Given the description of an element on the screen output the (x, y) to click on. 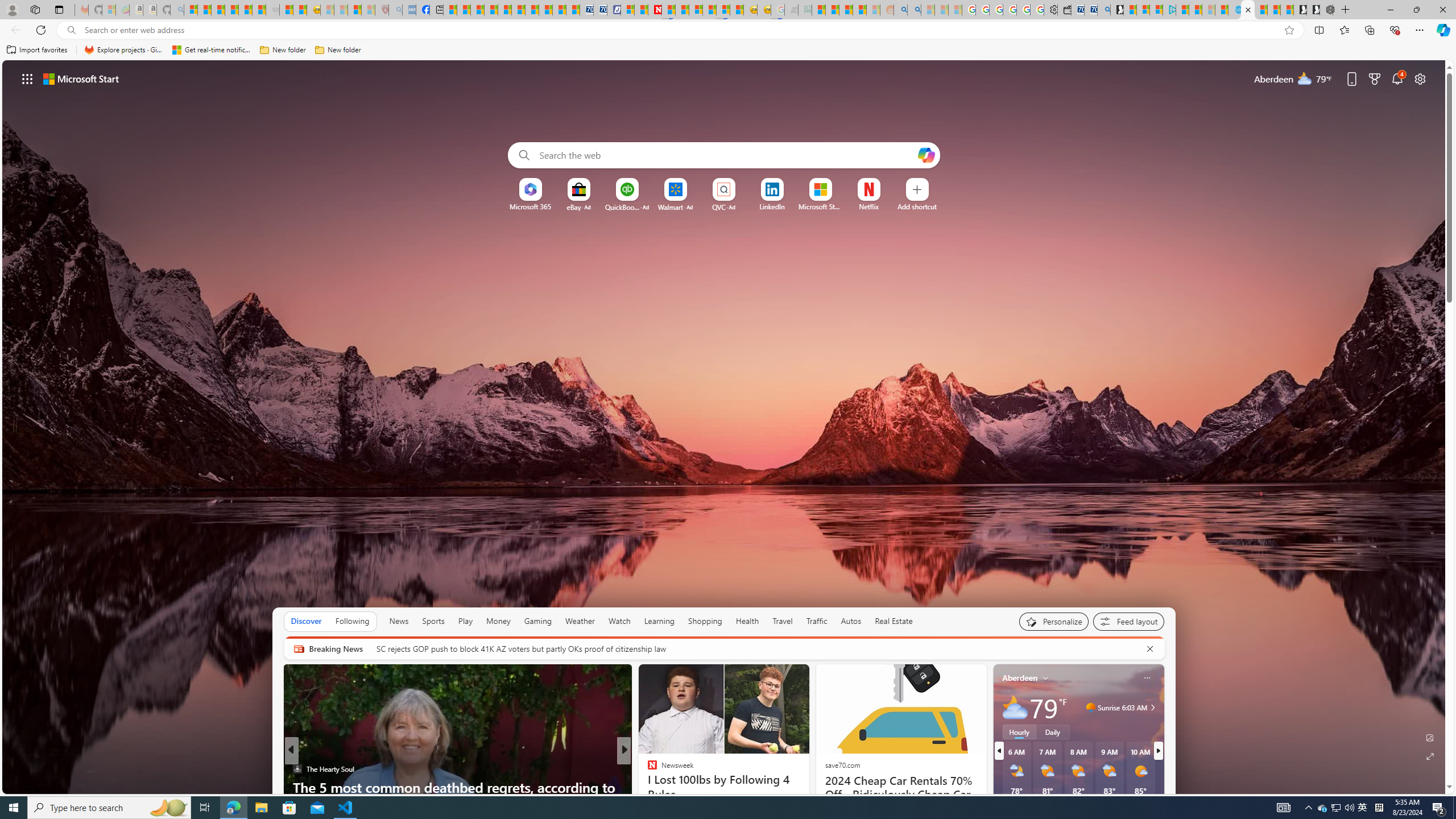
Aberdeen (1019, 678)
